Given the description of an element on the screen output the (x, y) to click on. 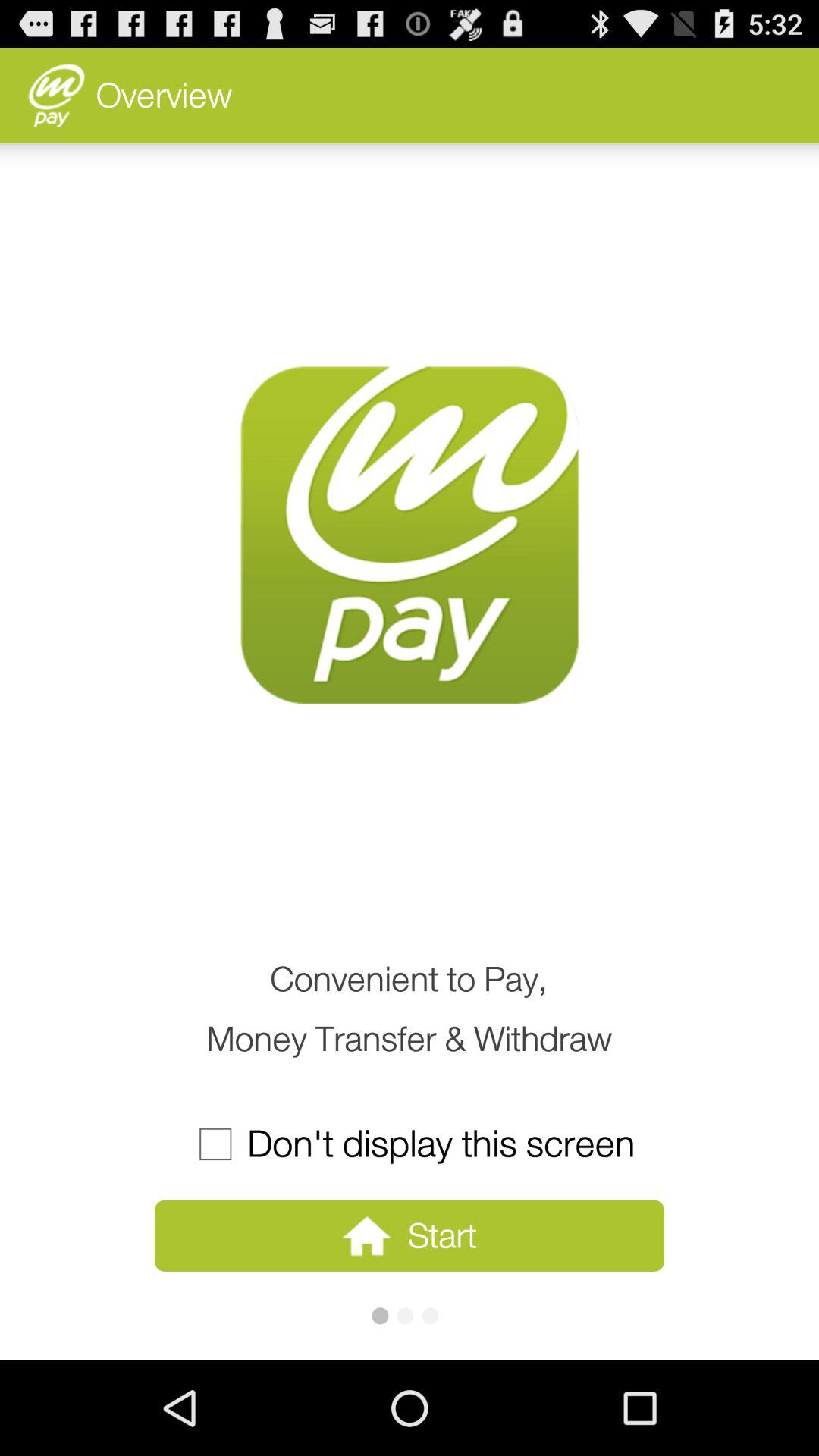
turn on icon below the convenient to pay (408, 1144)
